Given the description of an element on the screen output the (x, y) to click on. 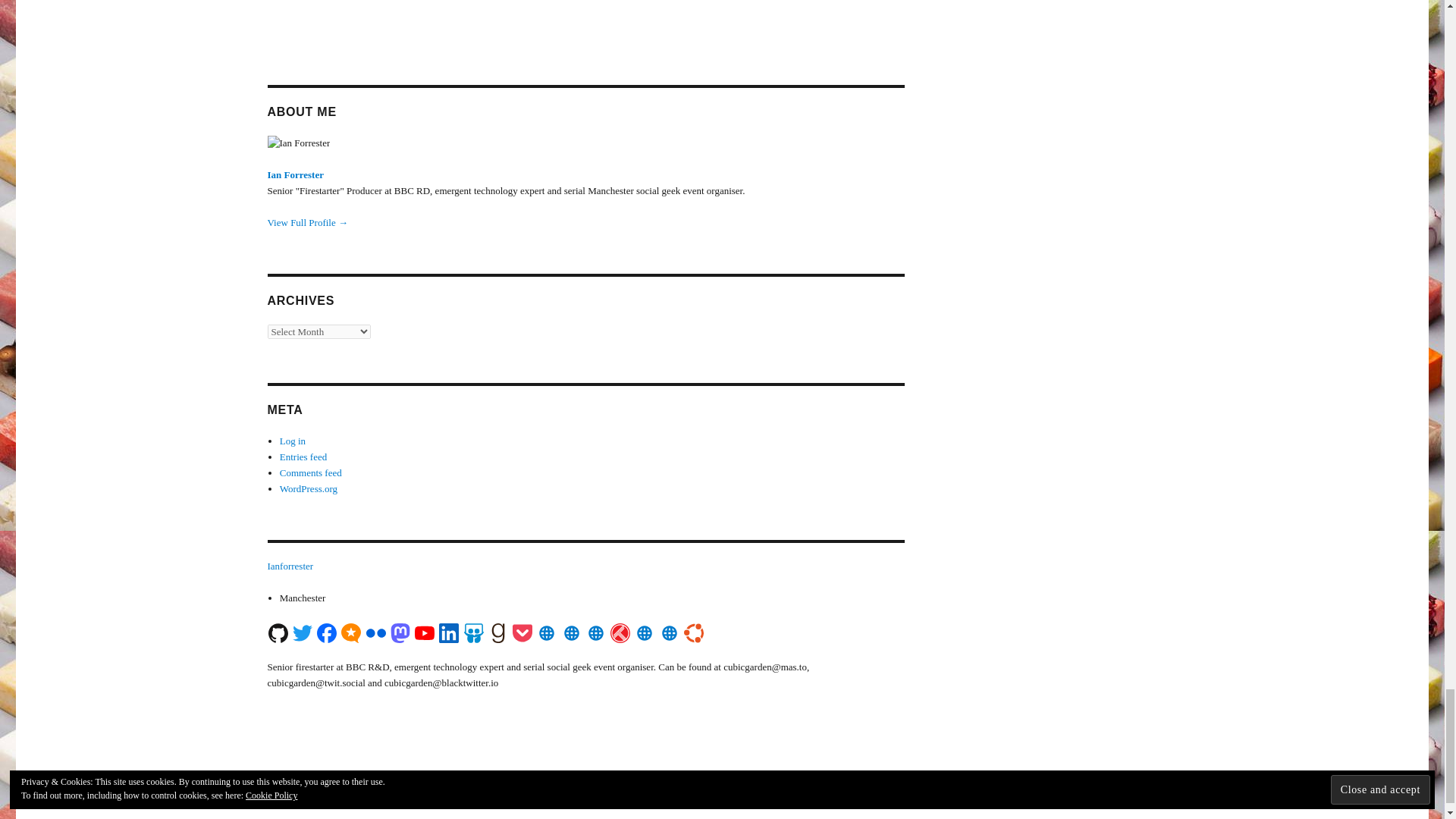
Pocket (522, 632)
LinkedIn (448, 632)
Ian Forrester (294, 174)
Facebook (326, 632)
Twitter (302, 632)
Mastodon (400, 632)
SlideShare (473, 632)
GitHub (277, 632)
YouTube (423, 632)
Trakt (620, 632)
Goodreads (497, 632)
Flickr (375, 632)
Micro.blog (350, 632)
Ubuntu (693, 632)
